Given the description of an element on the screen output the (x, y) to click on. 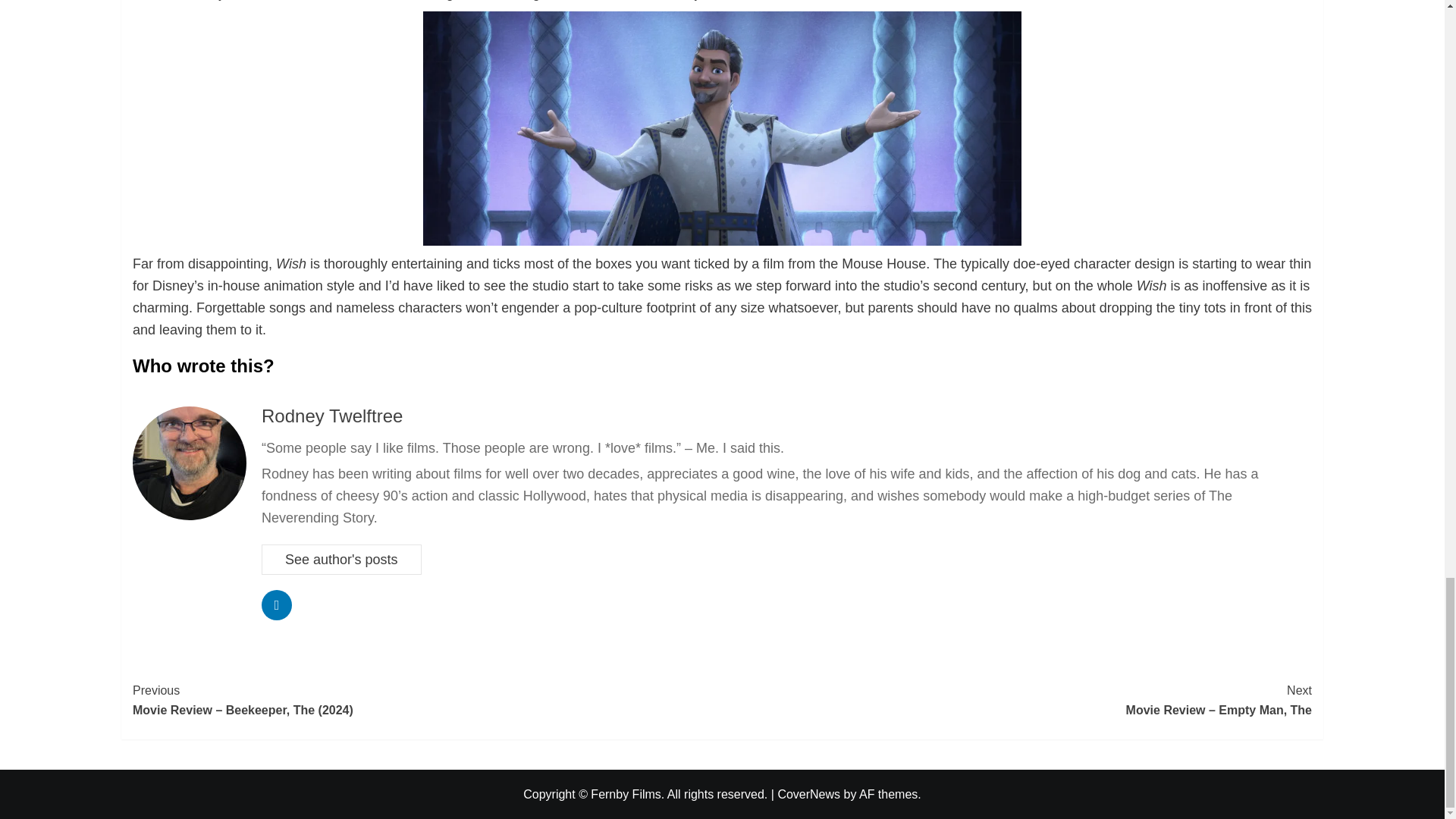
CoverNews (808, 793)
See author's posts (342, 559)
Rodney Twelftree (332, 415)
